Given the description of an element on the screen output the (x, y) to click on. 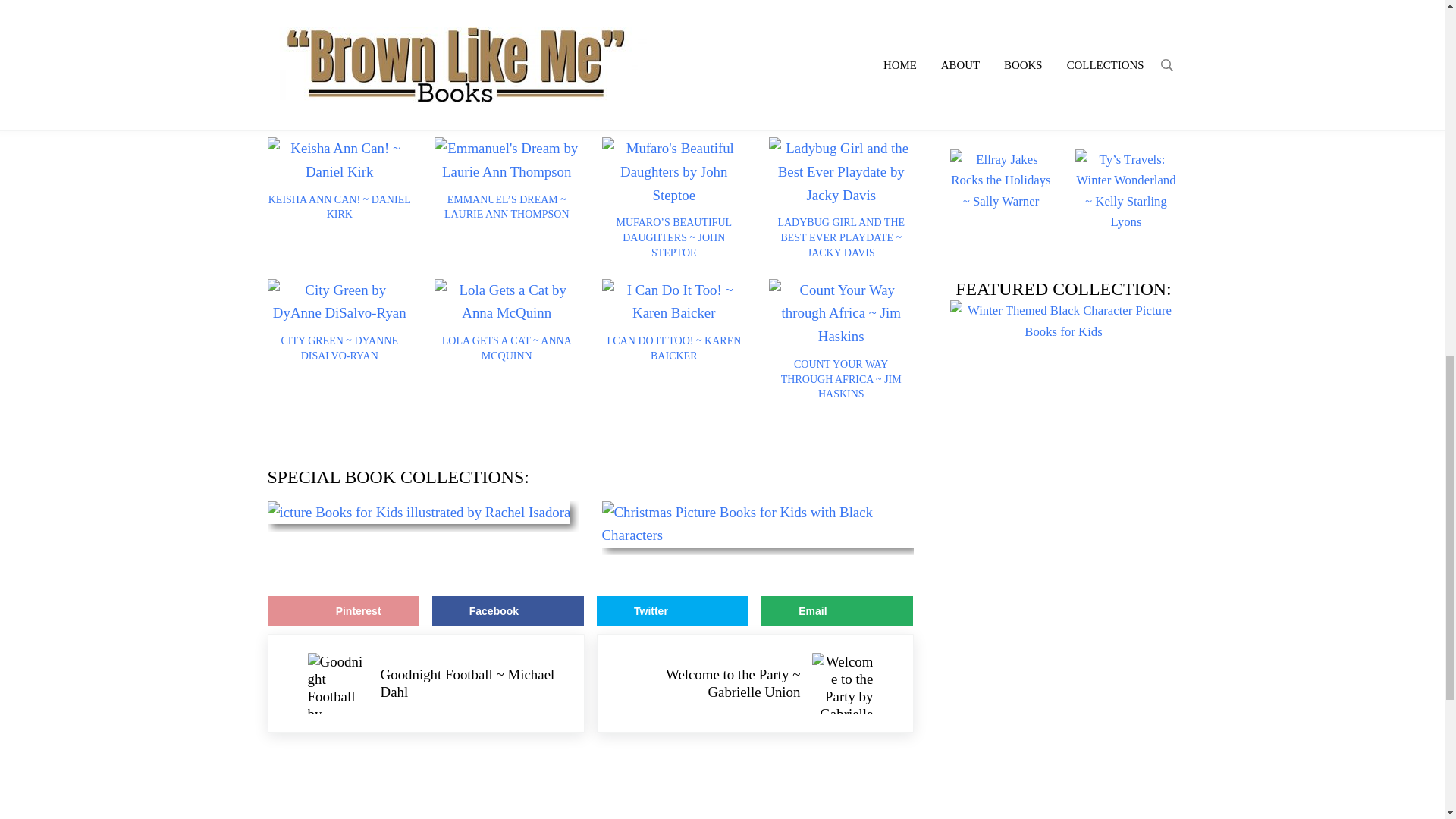
Buy the Book: The Water Princess (374, 39)
Share on Twitter (672, 611)
Send over email (836, 611)
Share on Facebook (507, 611)
Save to Pinterest (342, 611)
